Given the description of an element on the screen output the (x, y) to click on. 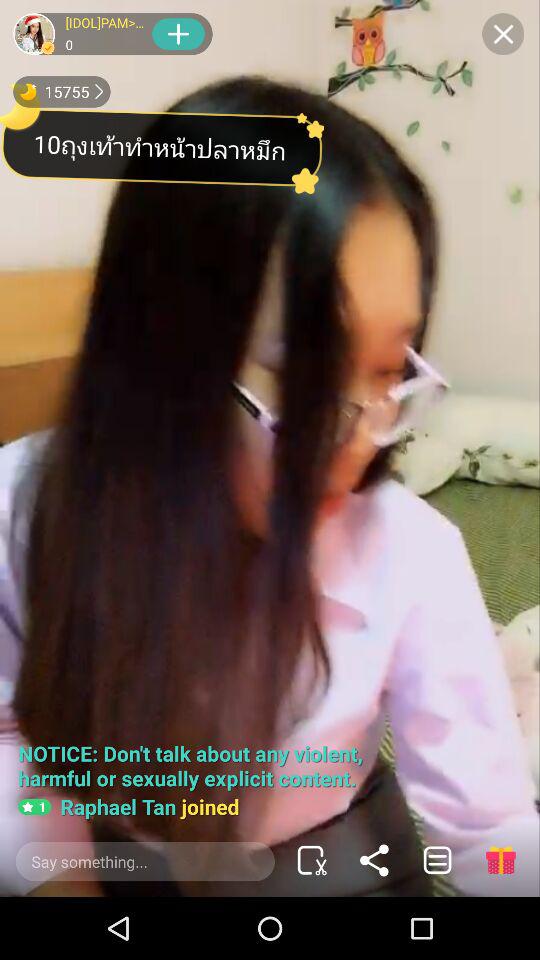
select the text which is left to the plus symbol (105, 33)
select the text immediately above raphael tan joined (195, 765)
click on the users image which is at top left corner (33, 33)
select the text which is below the text harmful or sexually explicit content (128, 806)
click on the icon left to 15755 (28, 91)
